Given the description of an element on the screen output the (x, y) to click on. 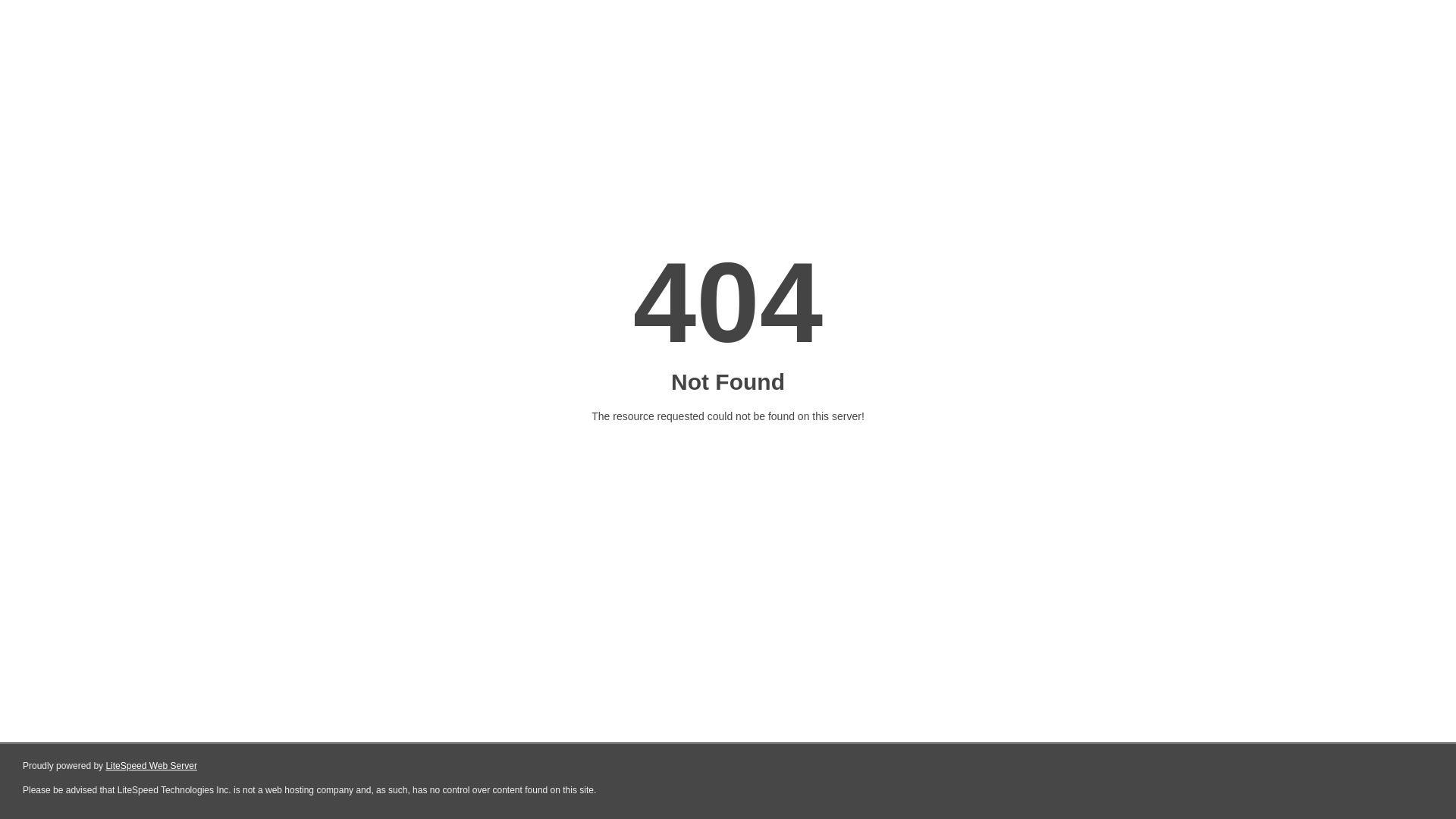
LiteSpeed Web Server Element type: text (151, 765)
